Given the description of an element on the screen output the (x, y) to click on. 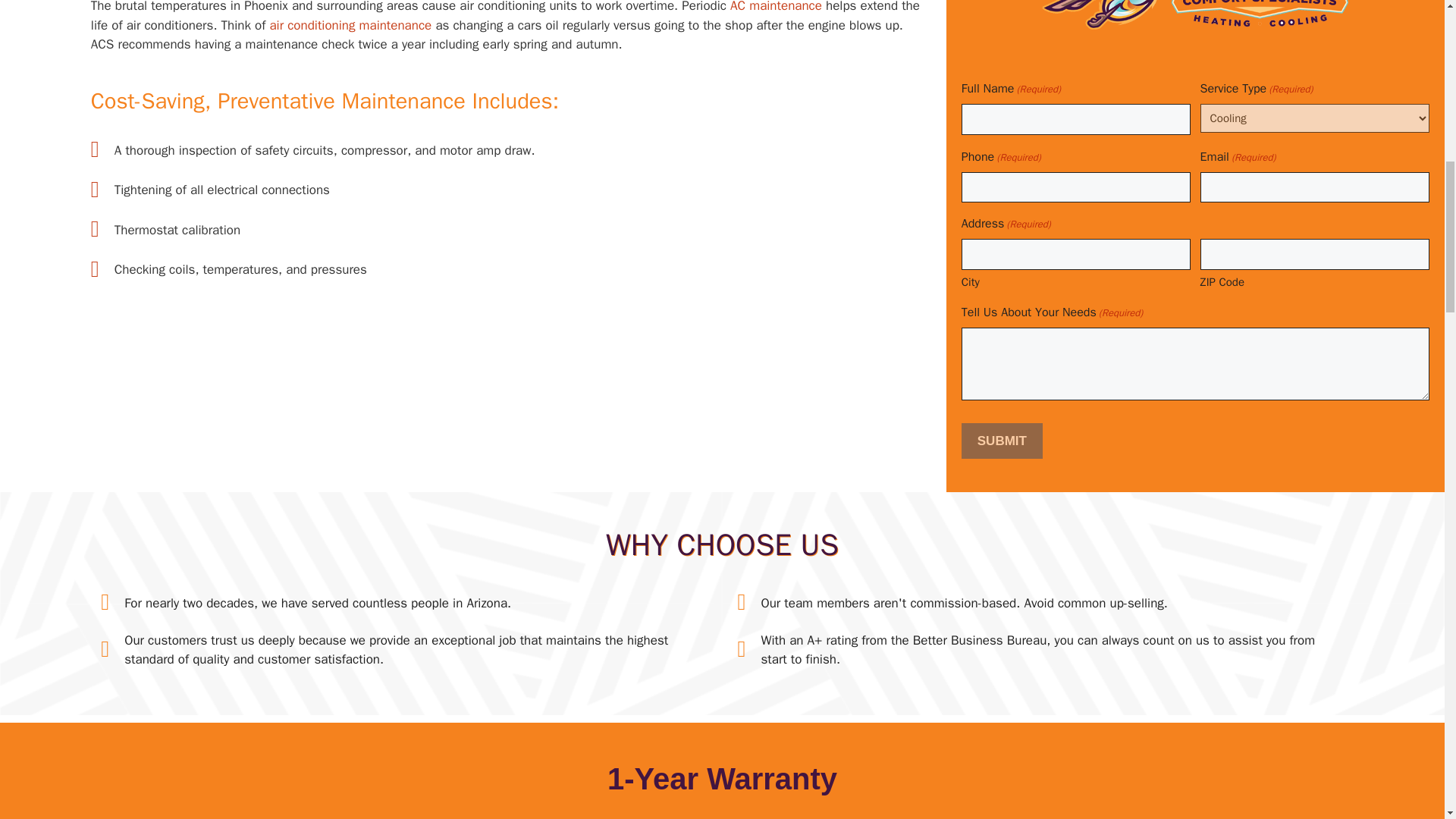
companylogo (1195, 14)
Submit (1001, 441)
